Given the description of an element on the screen output the (x, y) to click on. 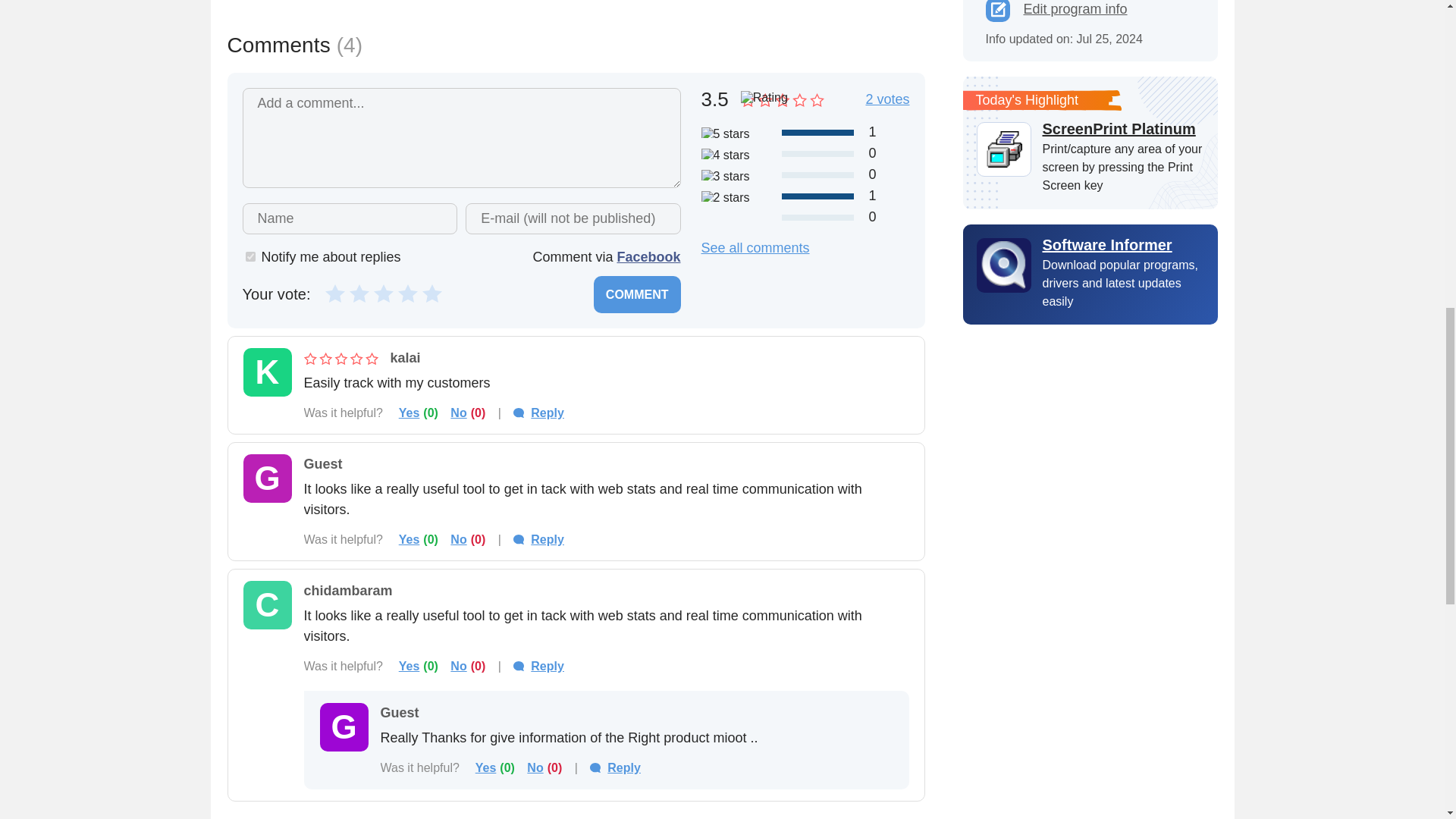
4 (408, 292)
2 votes (886, 99)
Software Informer (1090, 244)
1 (335, 292)
1 (251, 256)
ScreenPrint Platinum (1123, 128)
5 (432, 292)
See all comments (754, 248)
3 (383, 292)
